Given the description of an element on the screen output the (x, y) to click on. 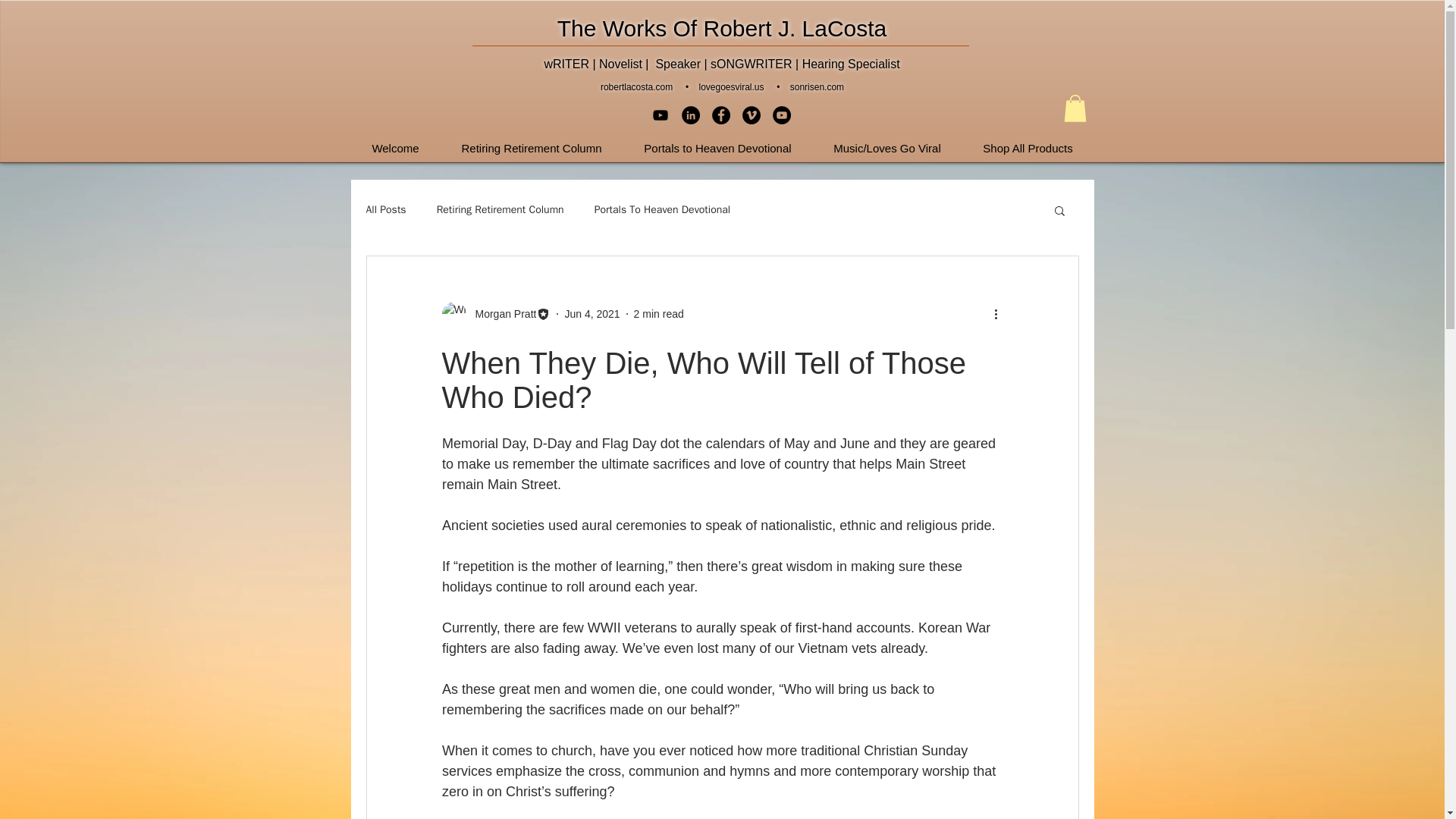
2 min read (658, 313)
Retiring Retirement Column (500, 210)
Welcome (394, 141)
Morgan Pratt (495, 313)
Portals to Heaven Devotional (717, 141)
sonrisen.com (817, 86)
All Posts (385, 210)
Morgan Pratt (500, 314)
Shop All Products (1026, 141)
Jun 4, 2021 (592, 313)
